Given the description of an element on the screen output the (x, y) to click on. 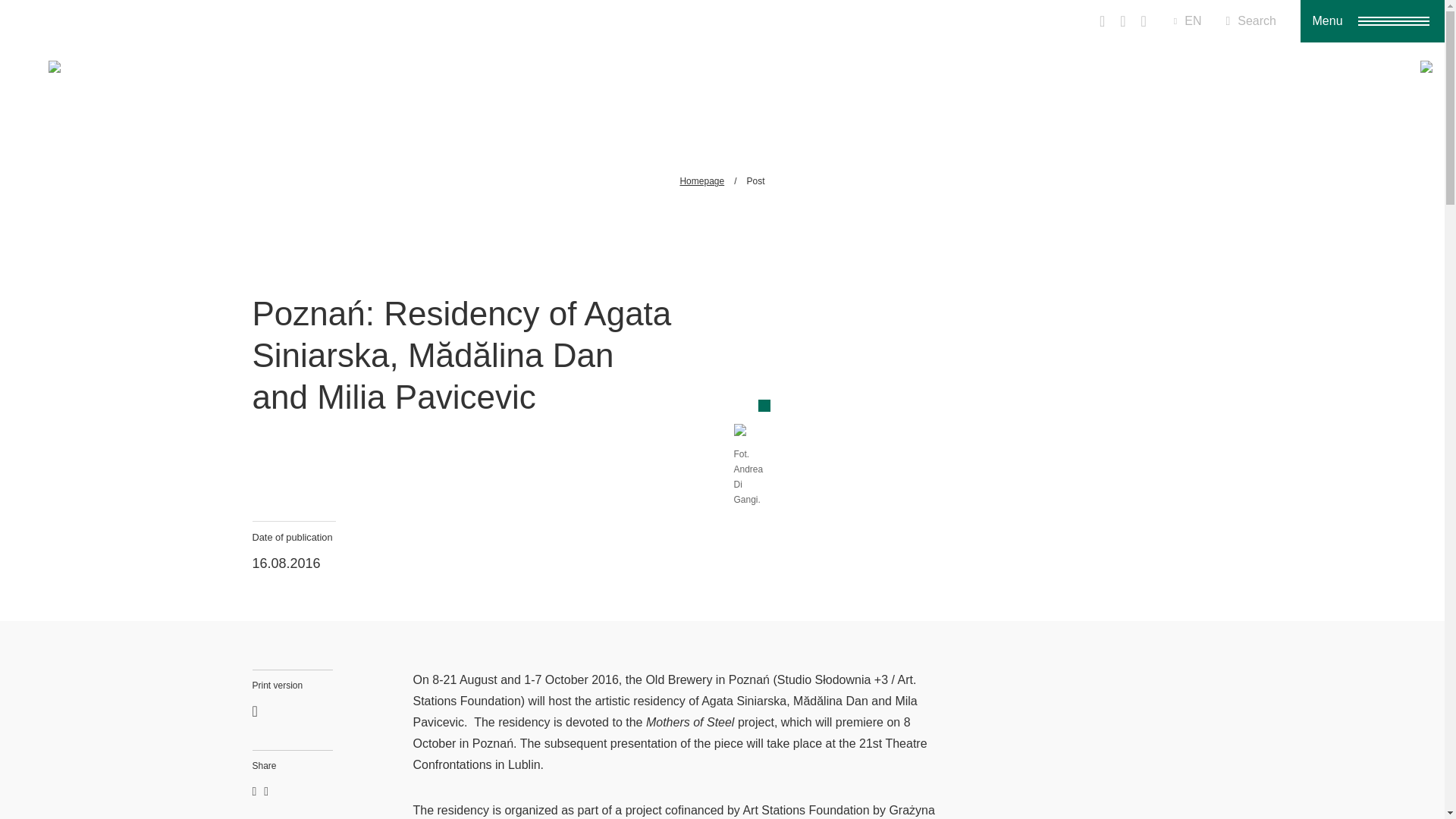
Search (1250, 20)
EN (1187, 20)
Homepage (701, 181)
